Given the description of an element on the screen output the (x, y) to click on. 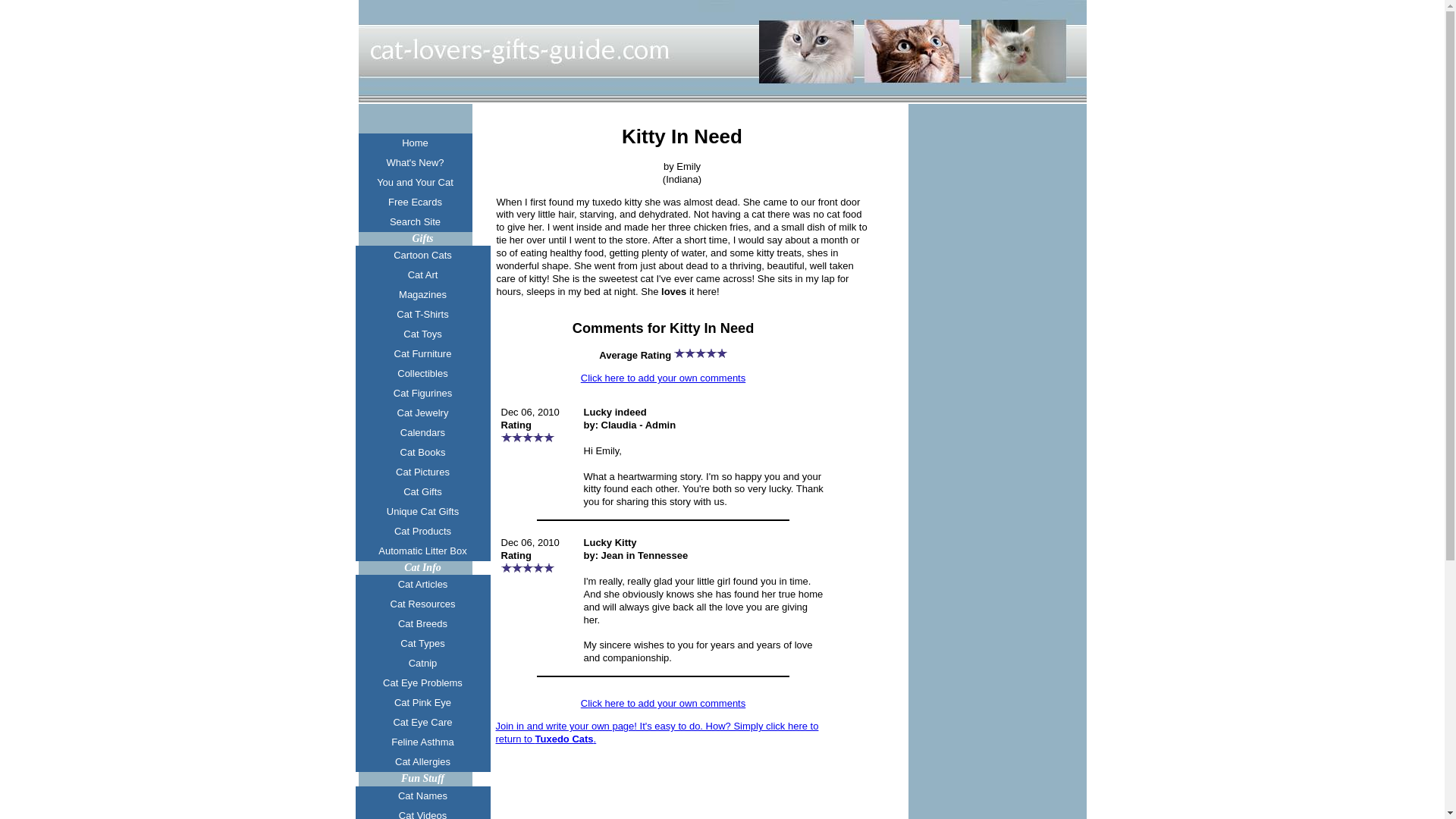
Cat Breeds (422, 623)
Cat Types (422, 643)
You and Your Cat (414, 182)
Home (414, 143)
Automatic Litter Box (422, 551)
Cat Eye Problems (422, 682)
What's New? (414, 162)
Click here to add your own comments (662, 378)
Click here to add your own comments (662, 703)
Cat Resources (422, 604)
Catnip (422, 663)
Cat Books (422, 452)
Cat Articles (422, 584)
Cat Eye Care (422, 722)
